Given the description of an element on the screen output the (x, y) to click on. 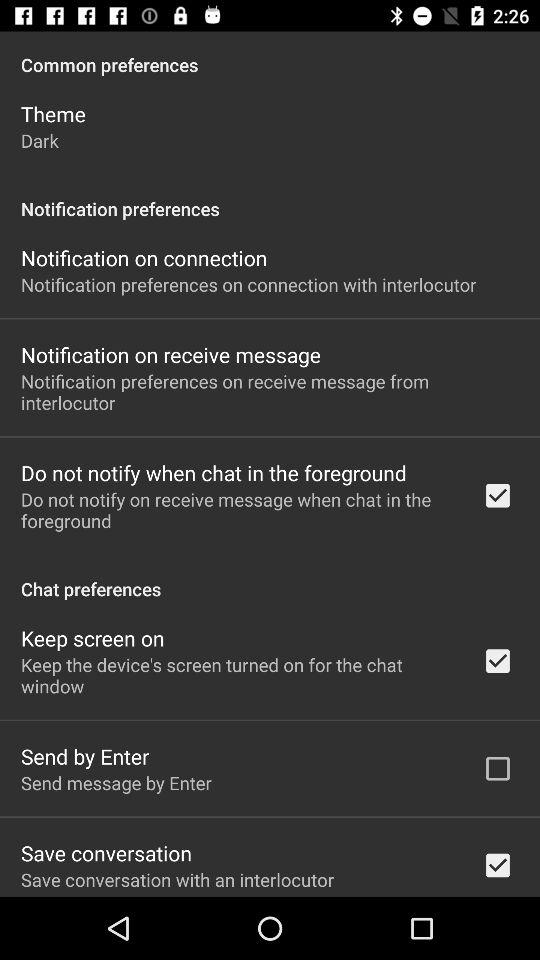
click the keep the device (238, 675)
